Given the description of an element on the screen output the (x, y) to click on. 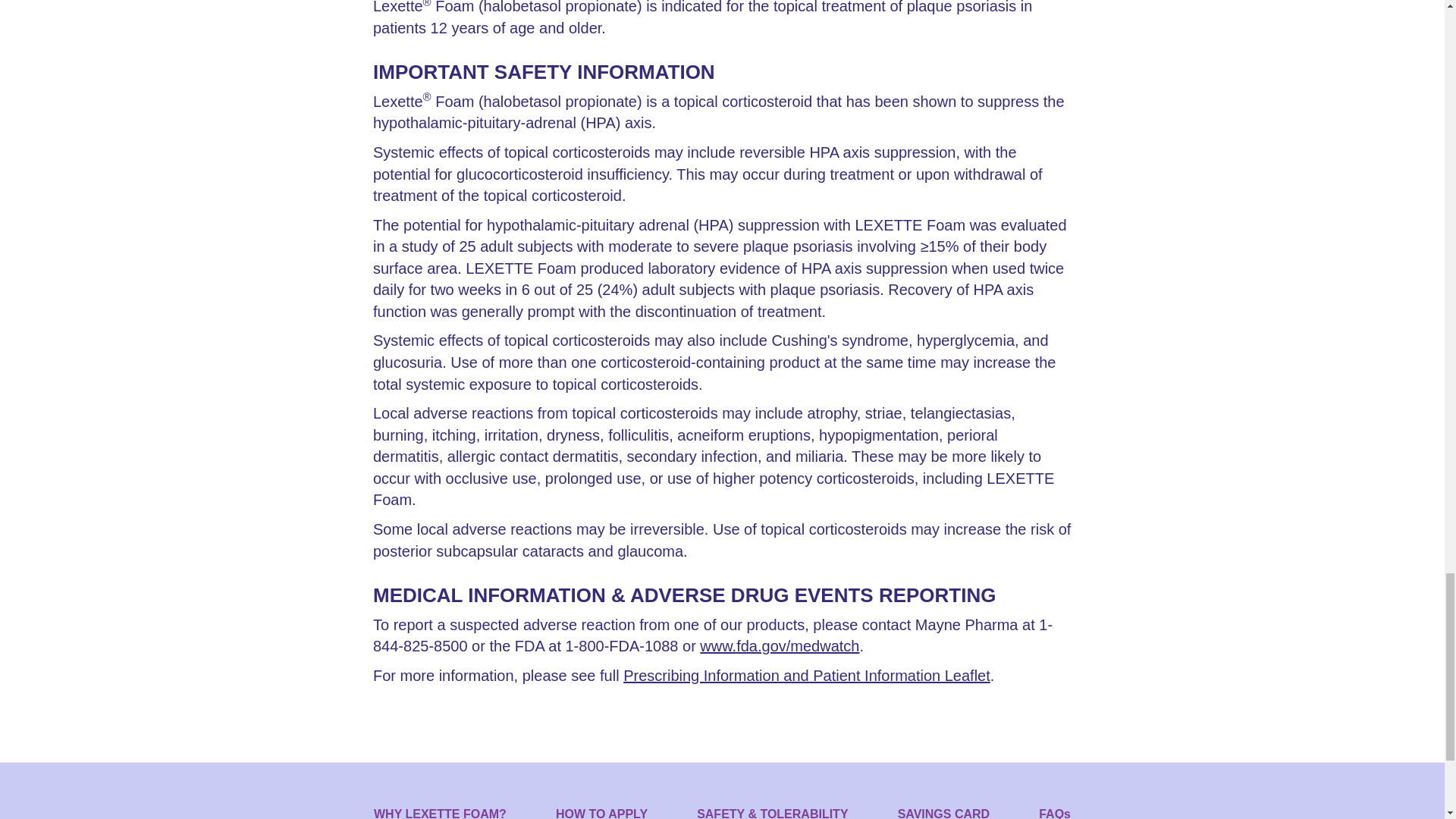
HOW TO APPLY (601, 812)
WHY LEXETTE FOAM? (440, 812)
SAVINGS CARD (944, 812)
Prescribing Information and Patient Information Leaflet (806, 675)
